Given the description of an element on the screen output the (x, y) to click on. 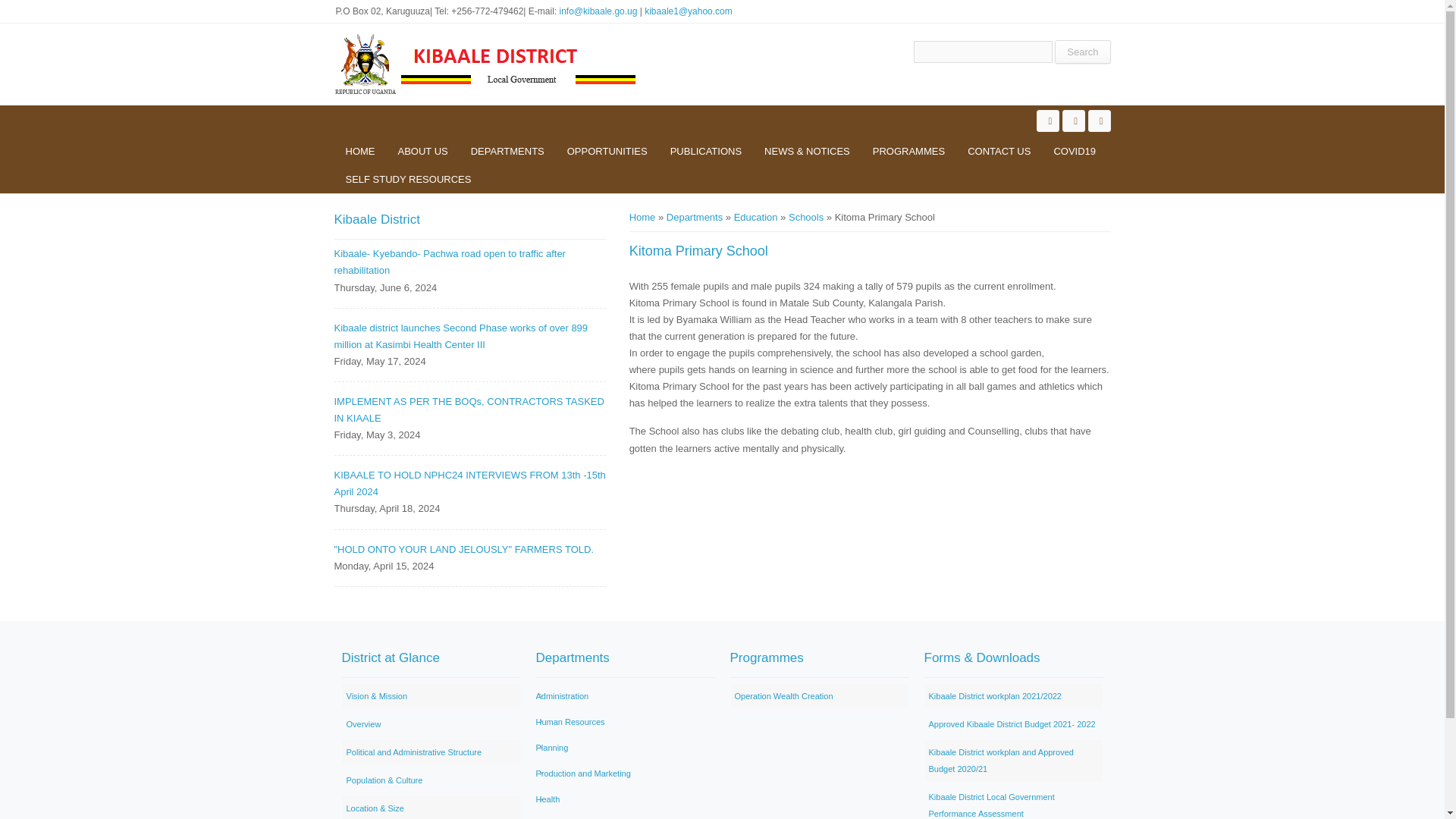
Serving the Nation (806, 216)
Search (1081, 51)
HOME (359, 151)
DEPARTMENTS (508, 151)
Search (1081, 51)
Home (484, 64)
Enter the terms you wish to search for. (983, 51)
ABOUT US (423, 151)
